Given the description of an element on the screen output the (x, y) to click on. 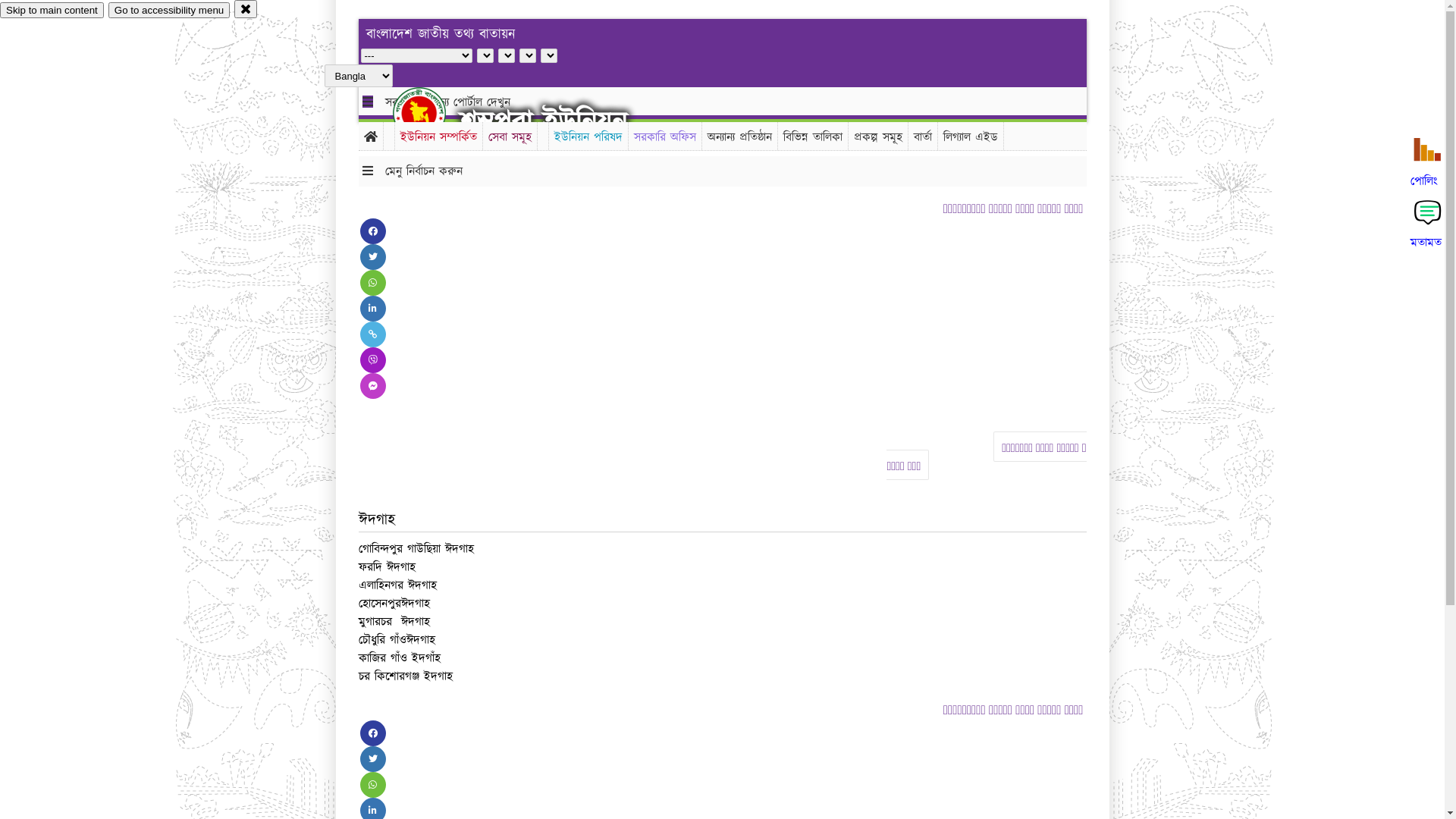
close Element type: hover (245, 9)
Skip to main content Element type: text (51, 10)

                
             Element type: hover (431, 112)
Go to accessibility menu Element type: text (168, 10)
